Given the description of an element on the screen output the (x, y) to click on. 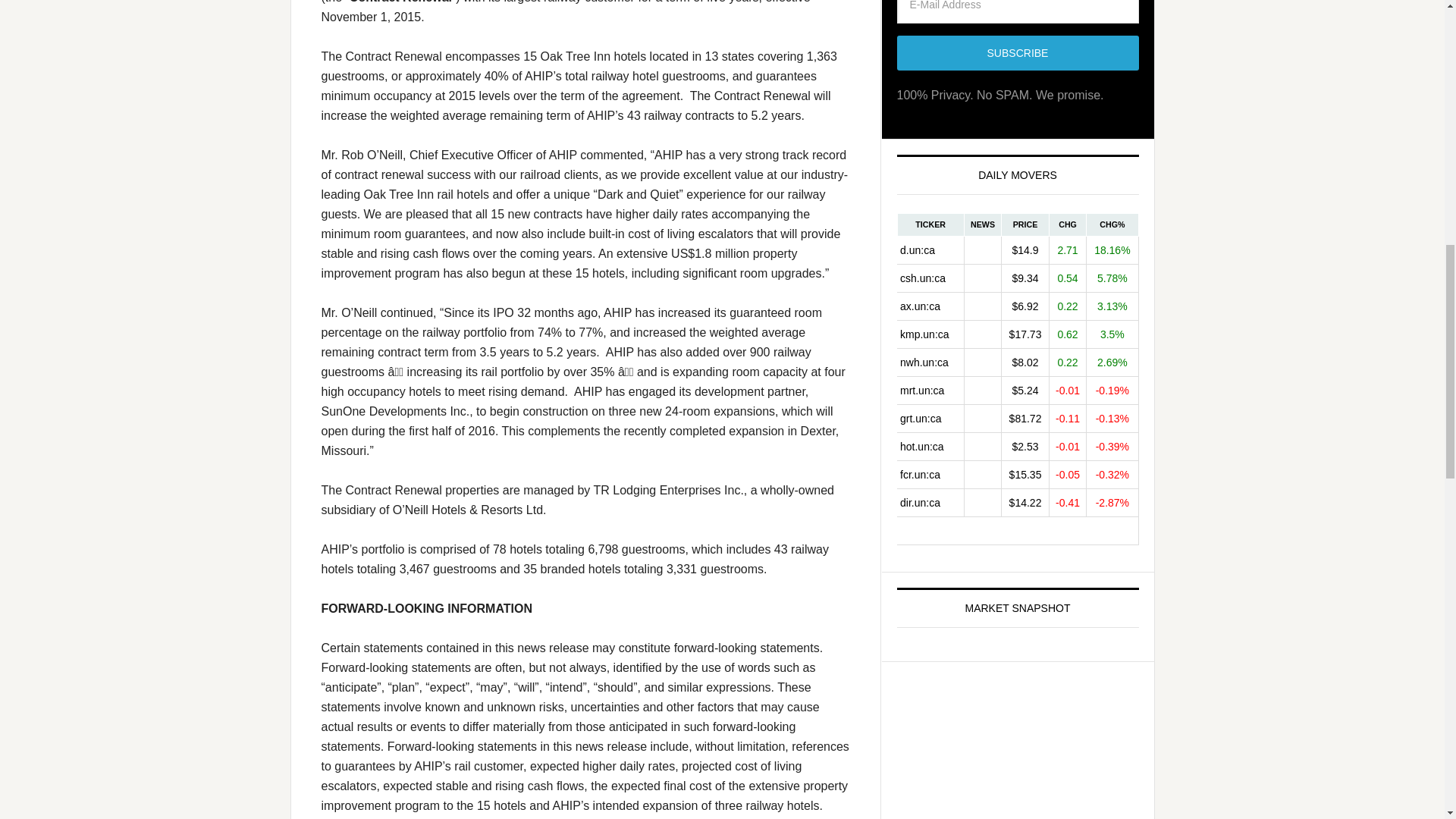
Subscribe (1017, 53)
Chartwell Retirement Residences (929, 277)
Artis (929, 305)
Killam Apartment (929, 334)
First Capital REIT (929, 474)
Subscribe (1017, 53)
Dream Office REIT (929, 249)
NorthWest Healthcare Properties (929, 361)
American Hotel Income Properties  (929, 446)
Granite REIT (929, 418)
Morguard REIT (929, 389)
Dream Industrial REIT (929, 502)
